Given the description of an element on the screen output the (x, y) to click on. 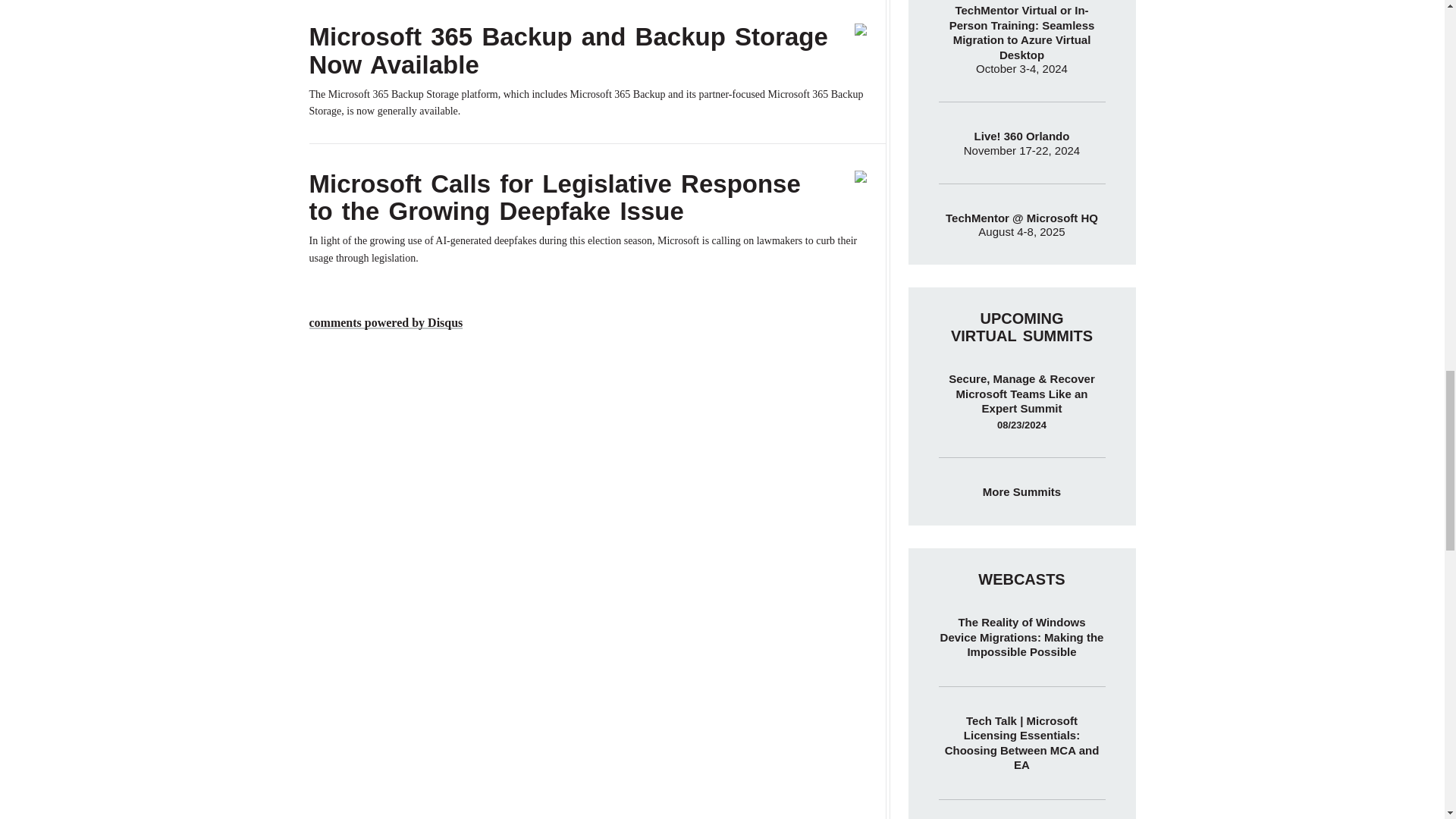
Microsoft 365 Backup and Backup Storage Now Available (568, 49)
